Given the description of an element on the screen output the (x, y) to click on. 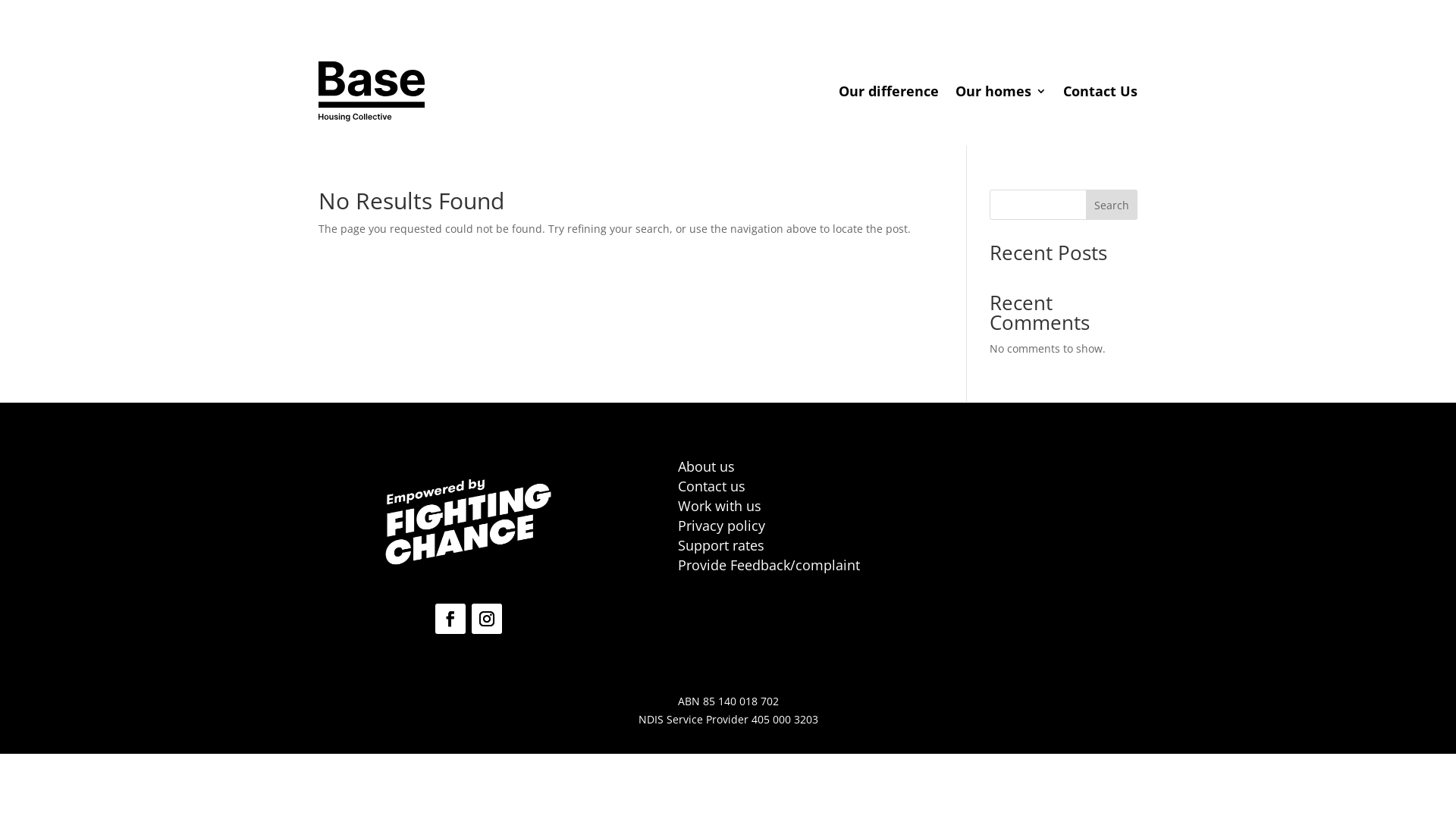
Provide Feedback/complaint Element type: text (768, 564)
Our difference Element type: text (888, 91)
Search Element type: text (1111, 204)
Follow on Instagram Element type: hover (486, 618)
About us Element type: text (705, 466)
Support rates Element type: text (720, 545)
Powered by Fighting Chance logotype-1024x635 Element type: hover (468, 521)
Our homes Element type: text (1000, 91)
Follow on Facebook Element type: hover (450, 618)
Contact us Element type: text (711, 485)
Privacy policy Element type: text (721, 525)
Contact Us Element type: text (1100, 91)
Work with us Element type: text (719, 505)
